Given the description of an element on the screen output the (x, y) to click on. 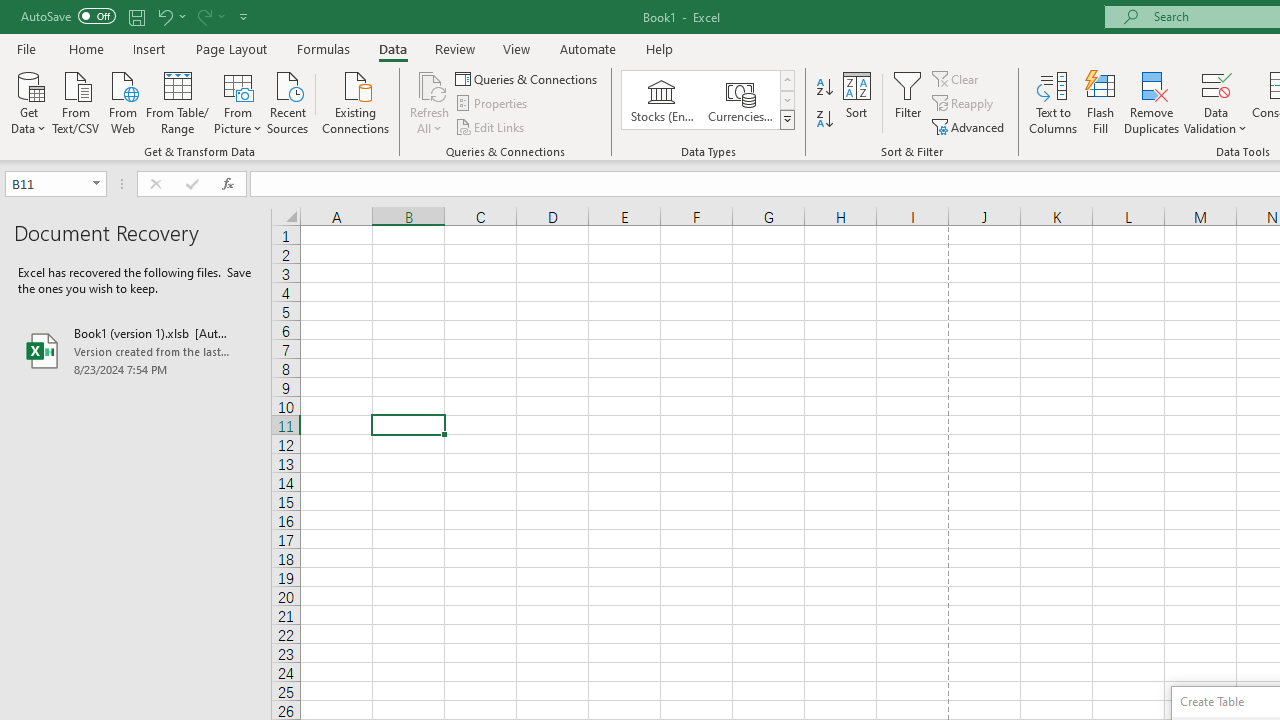
Customize Quick Access Toolbar (244, 15)
Reapply (964, 103)
Class: NetUIImage (787, 119)
Formulas (323, 48)
Edit Links (491, 126)
Insert (149, 48)
From Text/CSV (75, 101)
AutomationID: ConvertToLinkedEntity (708, 99)
Get Data (28, 101)
Save (136, 15)
Home (86, 48)
Open (96, 183)
